Given the description of an element on the screen output the (x, y) to click on. 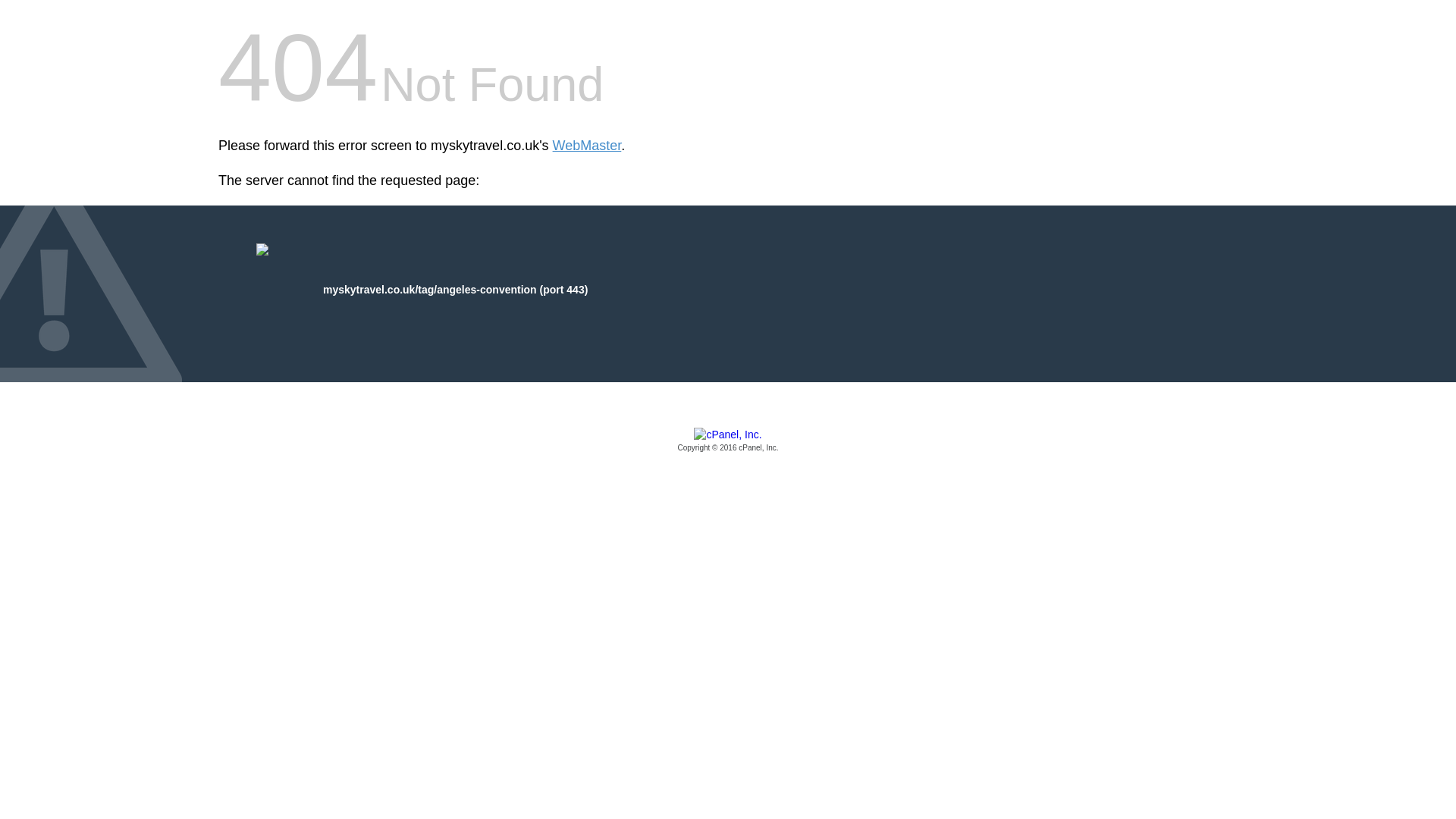
cPanel, Inc. (727, 440)
WebMaster (587, 145)
